Given the description of an element on the screen output the (x, y) to click on. 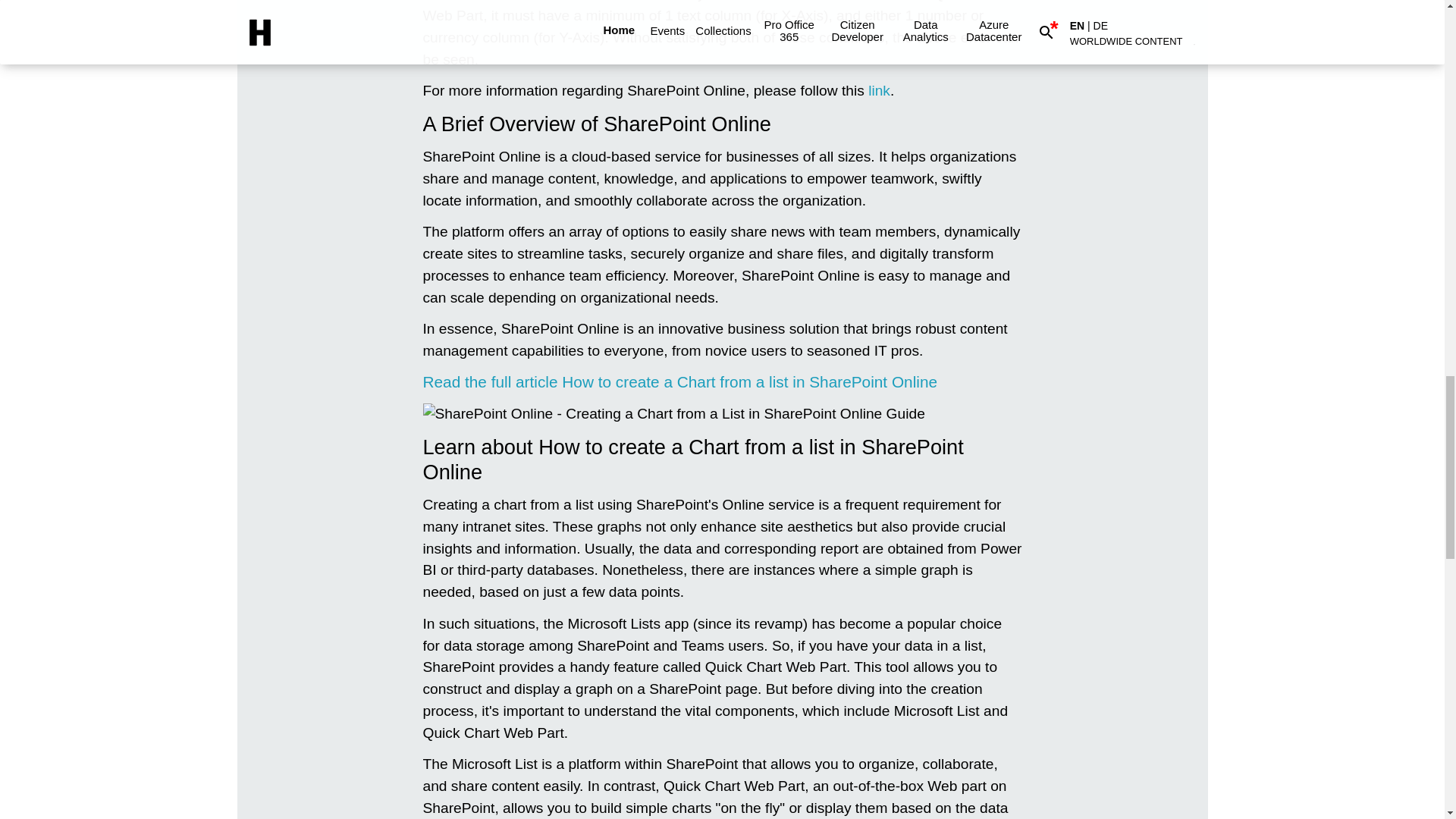
link (878, 90)
